Given the description of an element on the screen output the (x, y) to click on. 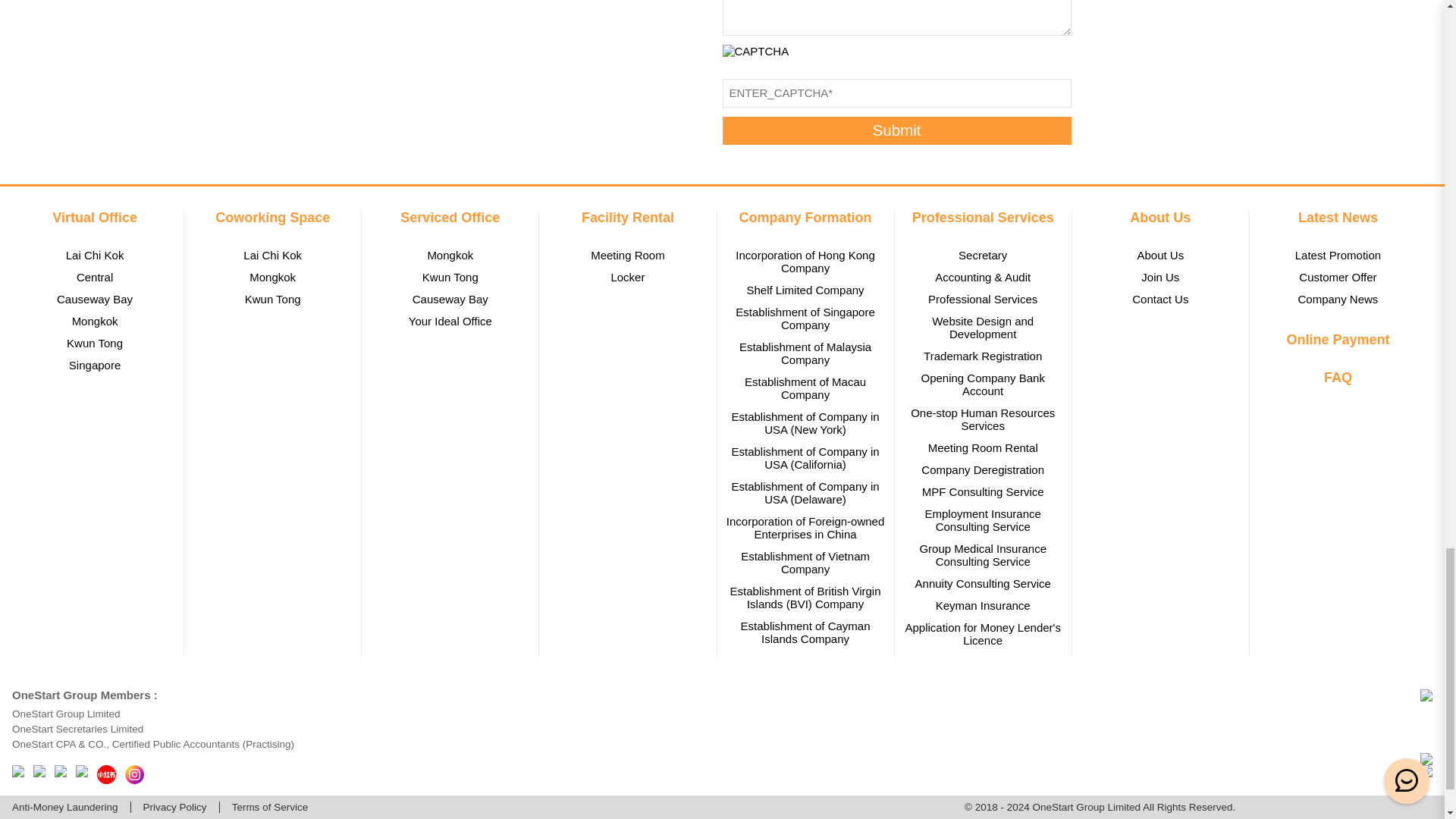
Submit (896, 130)
